Given the description of an element on the screen output the (x, y) to click on. 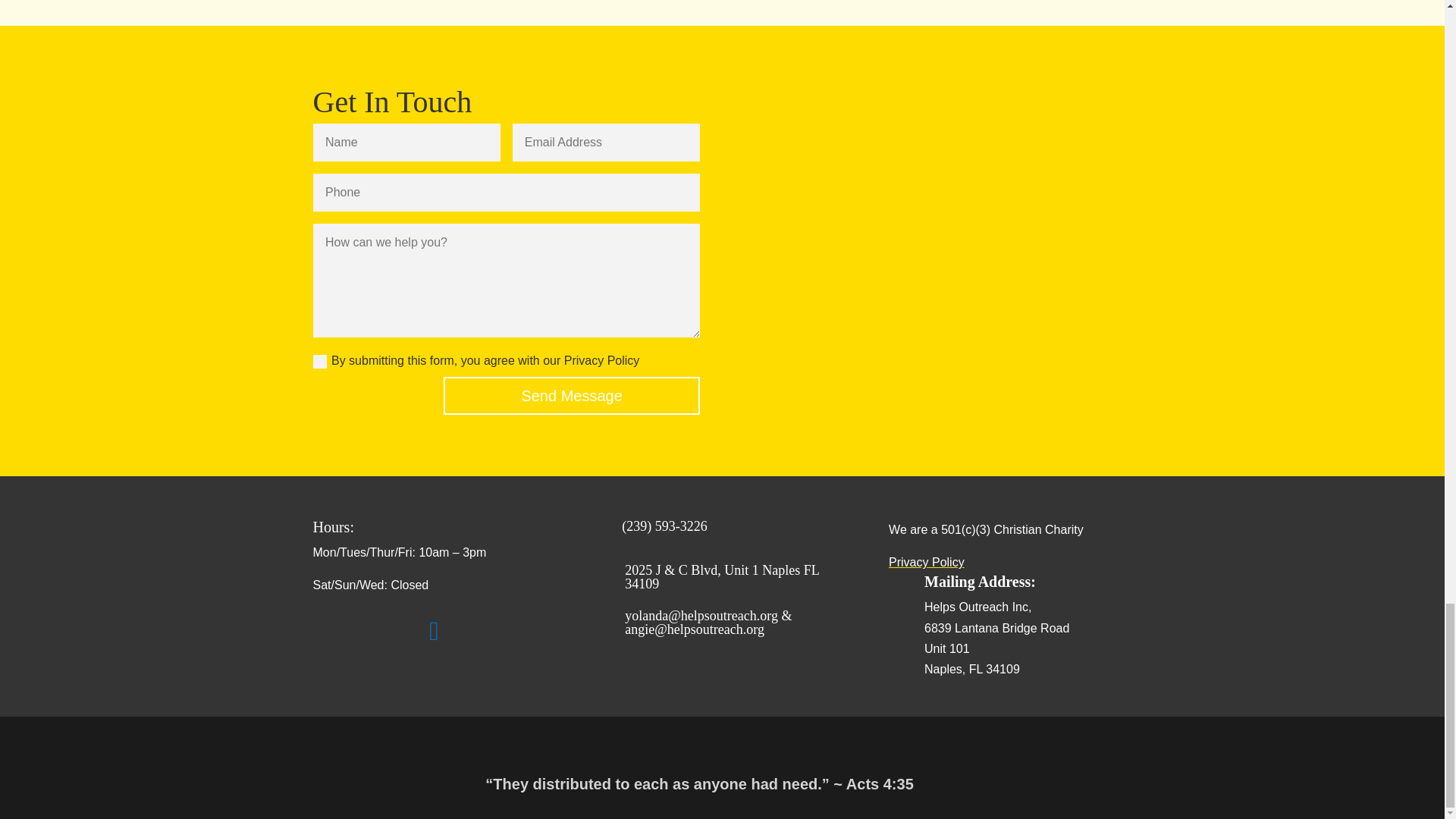
Privacy Policy (925, 562)
Send Message (571, 395)
